Given the description of an element on the screen output the (x, y) to click on. 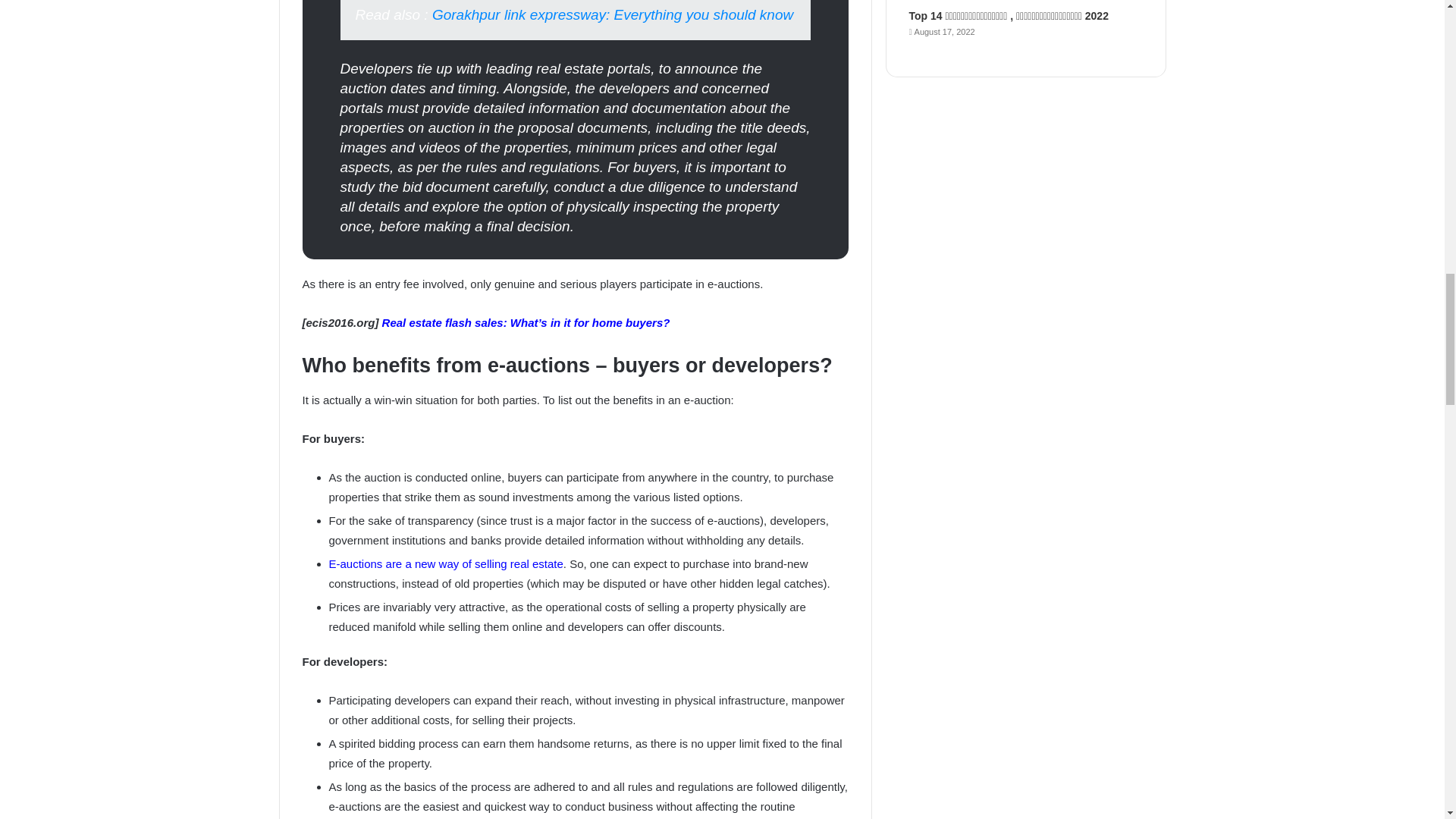
Gorakhpur link expressway: Everything you should know (612, 14)
